Given the description of an element on the screen output the (x, y) to click on. 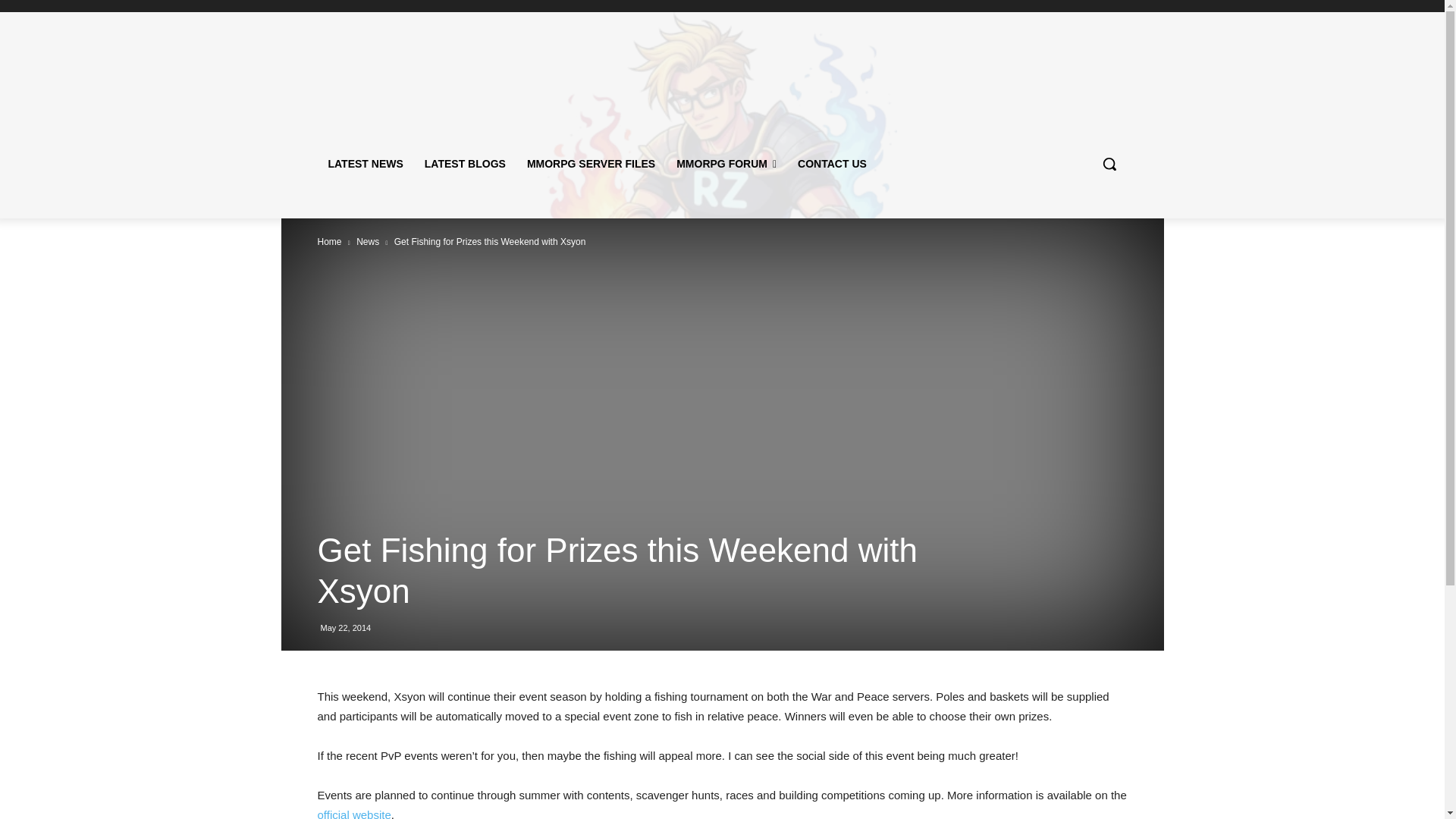
MMORPG SERVER FILES (590, 163)
Home (328, 241)
MMORPG FORUM (726, 163)
LATEST NEWS (365, 163)
CONTACT US (832, 163)
official website (353, 813)
Xsyon (353, 813)
LATEST BLOGS (464, 163)
News (367, 241)
View all posts in News (367, 241)
